Given the description of an element on the screen output the (x, y) to click on. 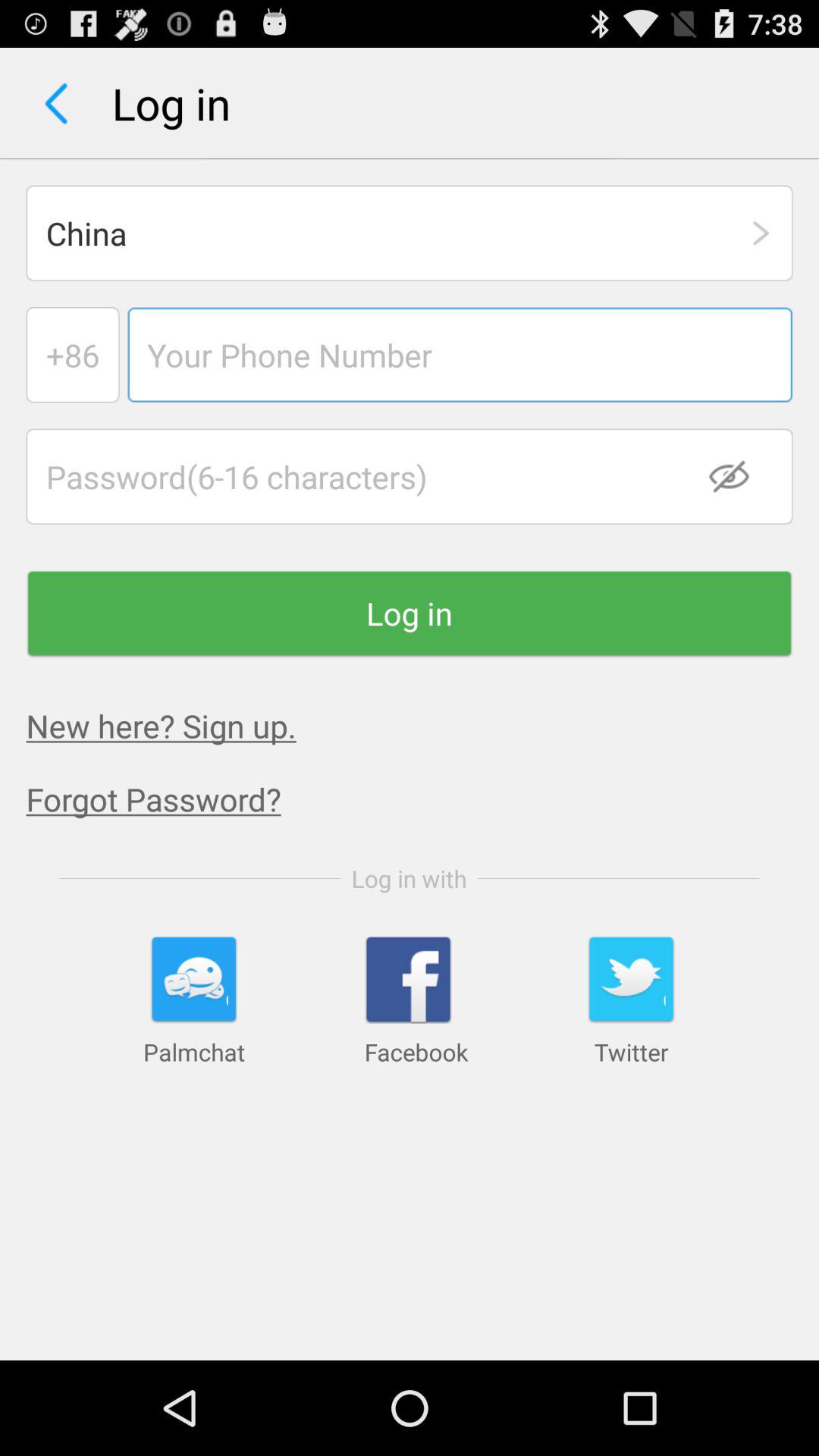
click the app above the log in with icon (422, 798)
